Given the description of an element on the screen output the (x, y) to click on. 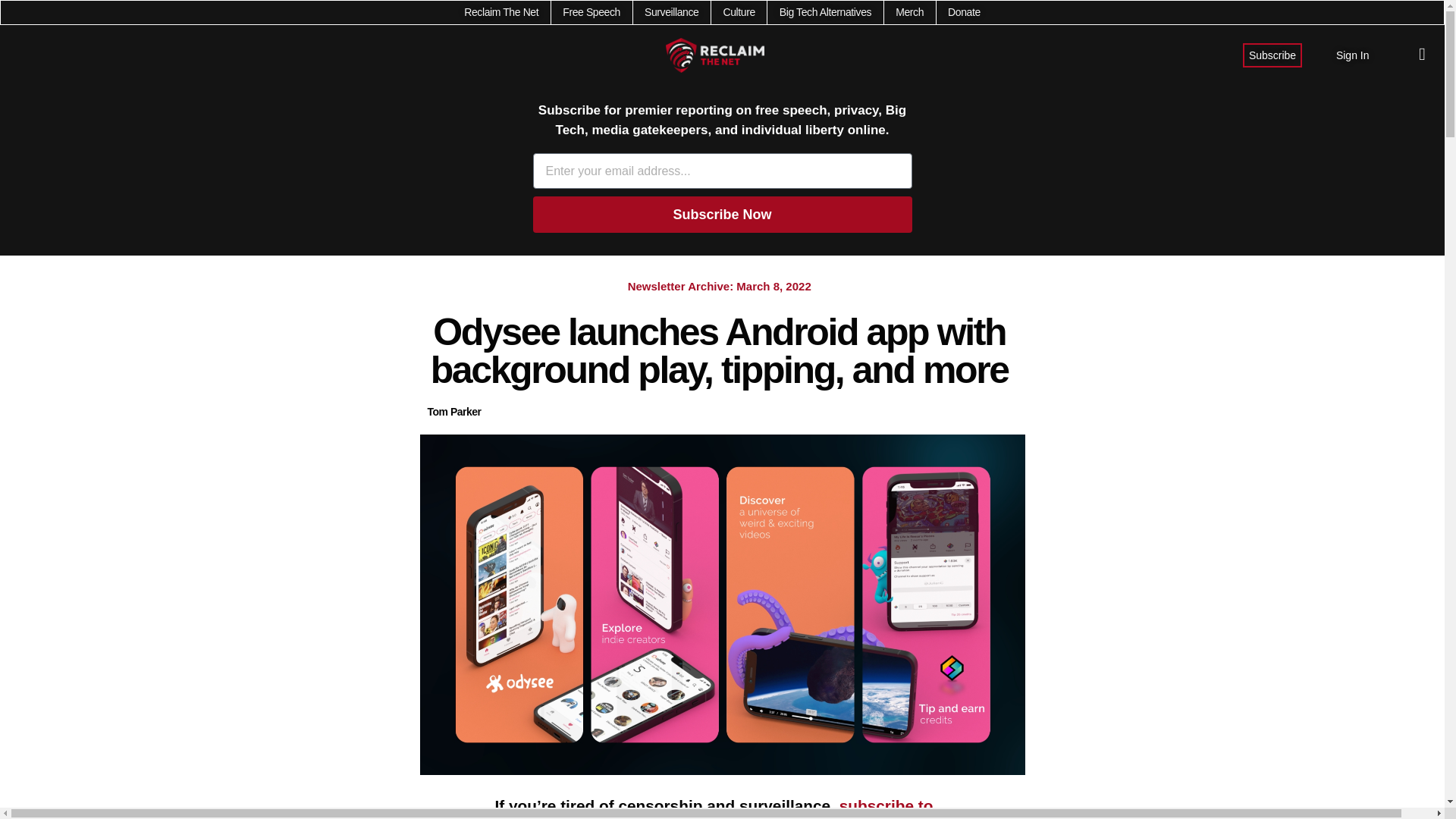
Big Tech Alternatives (824, 12)
Donate (963, 12)
Free Speech (591, 12)
Subscribe (1272, 55)
Merch (909, 12)
Subscribe Now (721, 214)
subscribe to Reclaim The Net. (714, 807)
Tom Parker (454, 412)
Sign In (1353, 55)
Surveillance (671, 12)
